Given the description of an element on the screen output the (x, y) to click on. 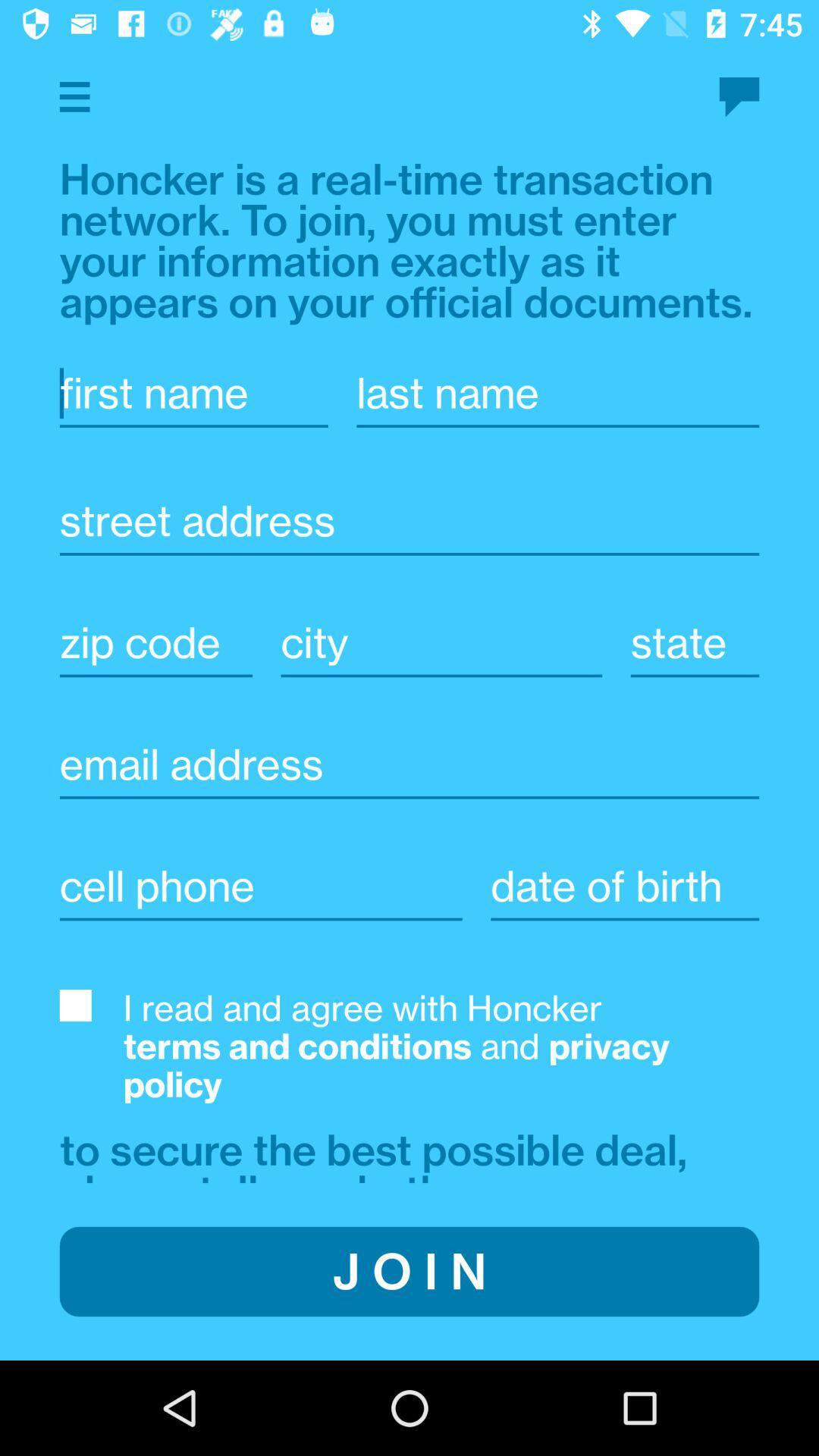
toggle agree to terms and conditions (75, 1005)
